Given the description of an element on the screen output the (x, y) to click on. 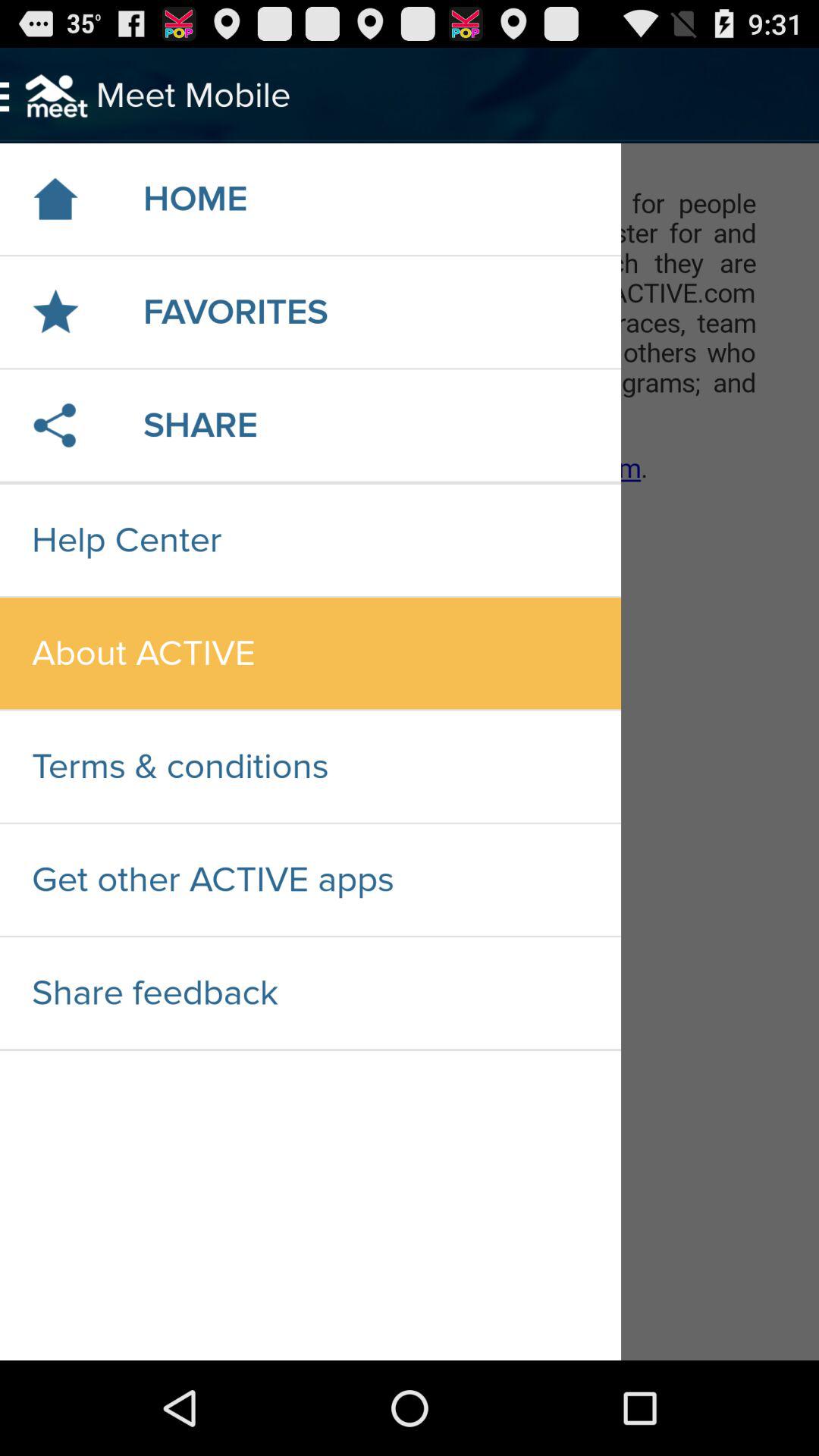
open get other active (310, 879)
